Given the description of an element on the screen output the (x, y) to click on. 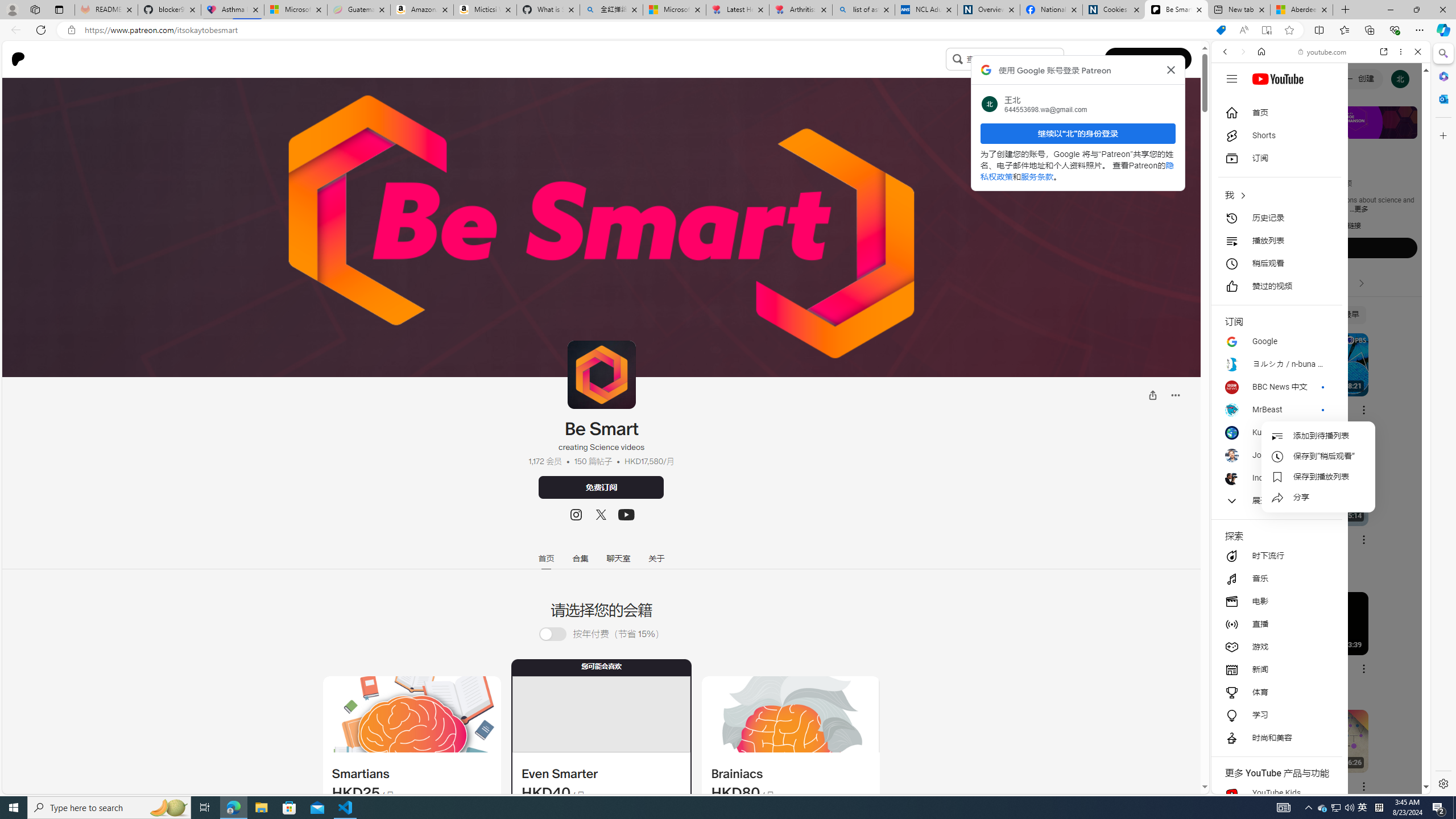
YouTube Kids (1275, 793)
Search Filter, IMAGES (1262, 129)
Class: sc-1a2jhmw-3 djwfLg (790, 713)
SEARCH TOOLS (1350, 130)
More options (1401, 51)
Search Filter, WEB (1230, 129)
Preferences (1403, 129)
Enter Immersive Reader (F9) (1266, 29)
